Given the description of an element on the screen output the (x, y) to click on. 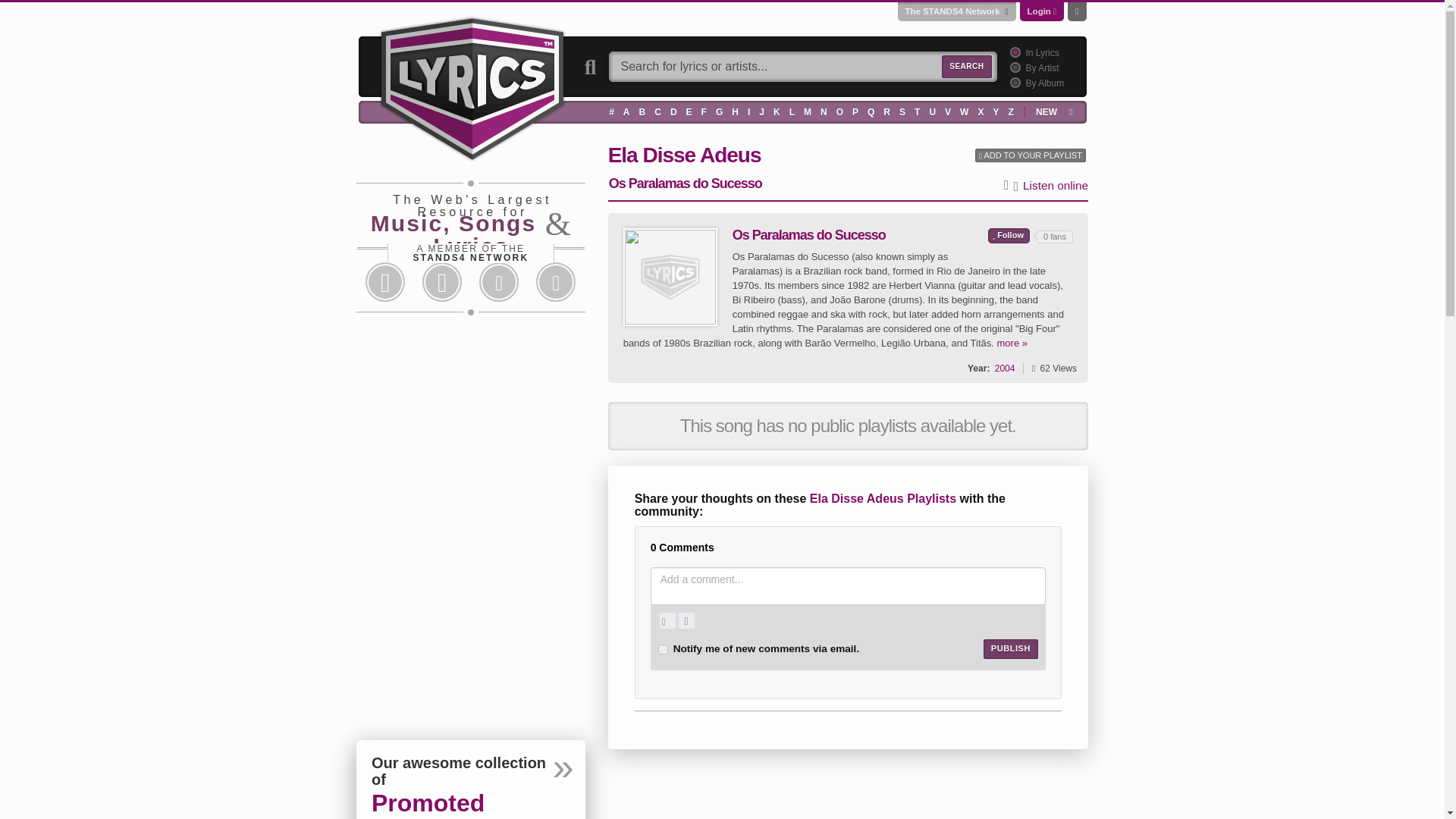
Os Paralamas do Sucesso (670, 276)
I (749, 111)
Lyrics.com (471, 86)
1 (1013, 51)
Listen to this song on Amazon (1055, 185)
Share this page on Twitter (441, 282)
Listen to this song on Amazon (1018, 187)
Share this page on Reddit (498, 282)
Record a sound (686, 619)
click to add Ela Disse Adeus to your playlist (1030, 155)
Os Paralamas do Sucesso (670, 277)
P (854, 111)
M (807, 111)
click to add your vote (1008, 235)
N (823, 111)
